Given the description of an element on the screen output the (x, y) to click on. 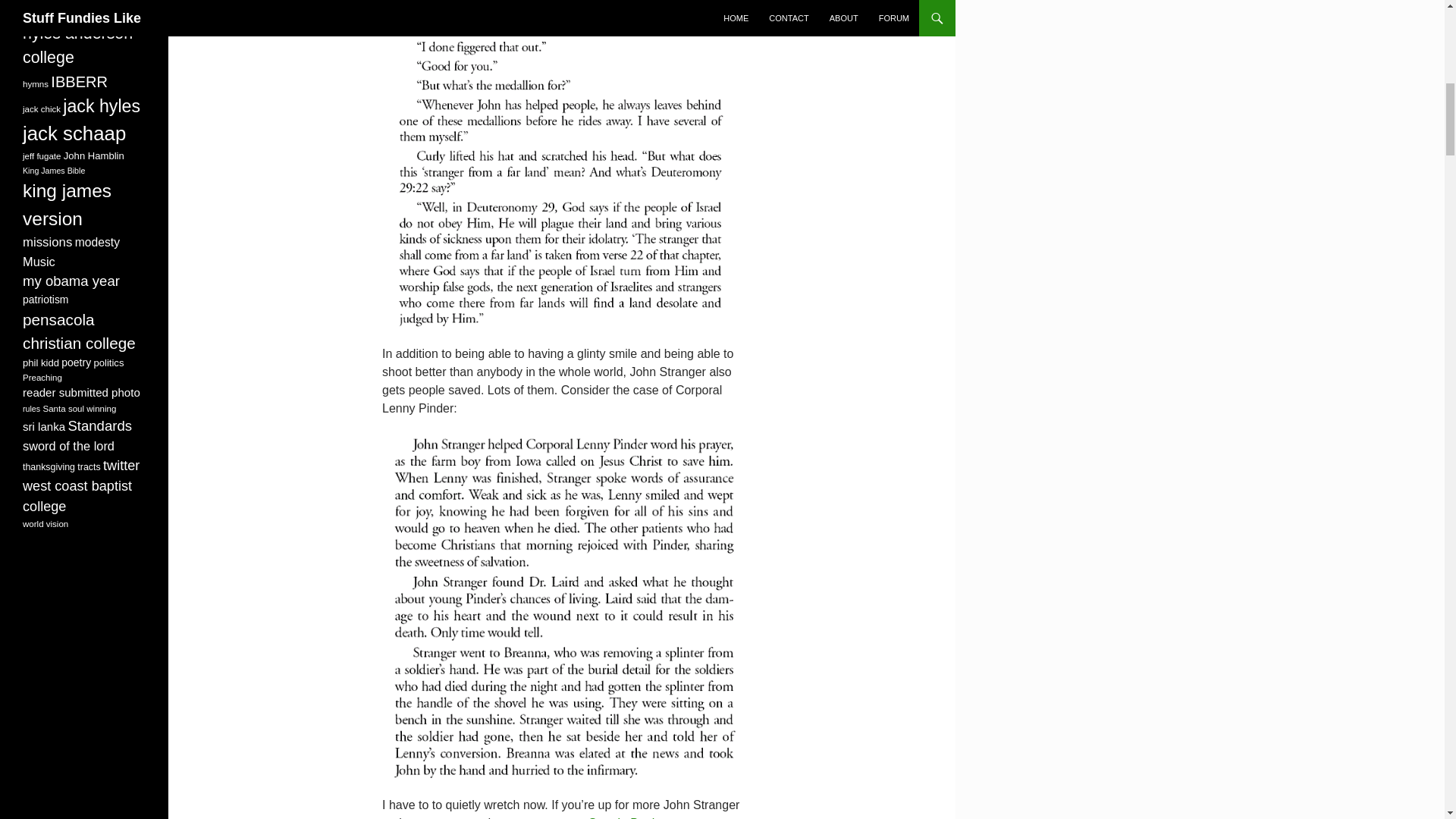
johnstranger (561, 606)
Google Books (625, 817)
johnstranger2 (561, 163)
